Given the description of an element on the screen output the (x, y) to click on. 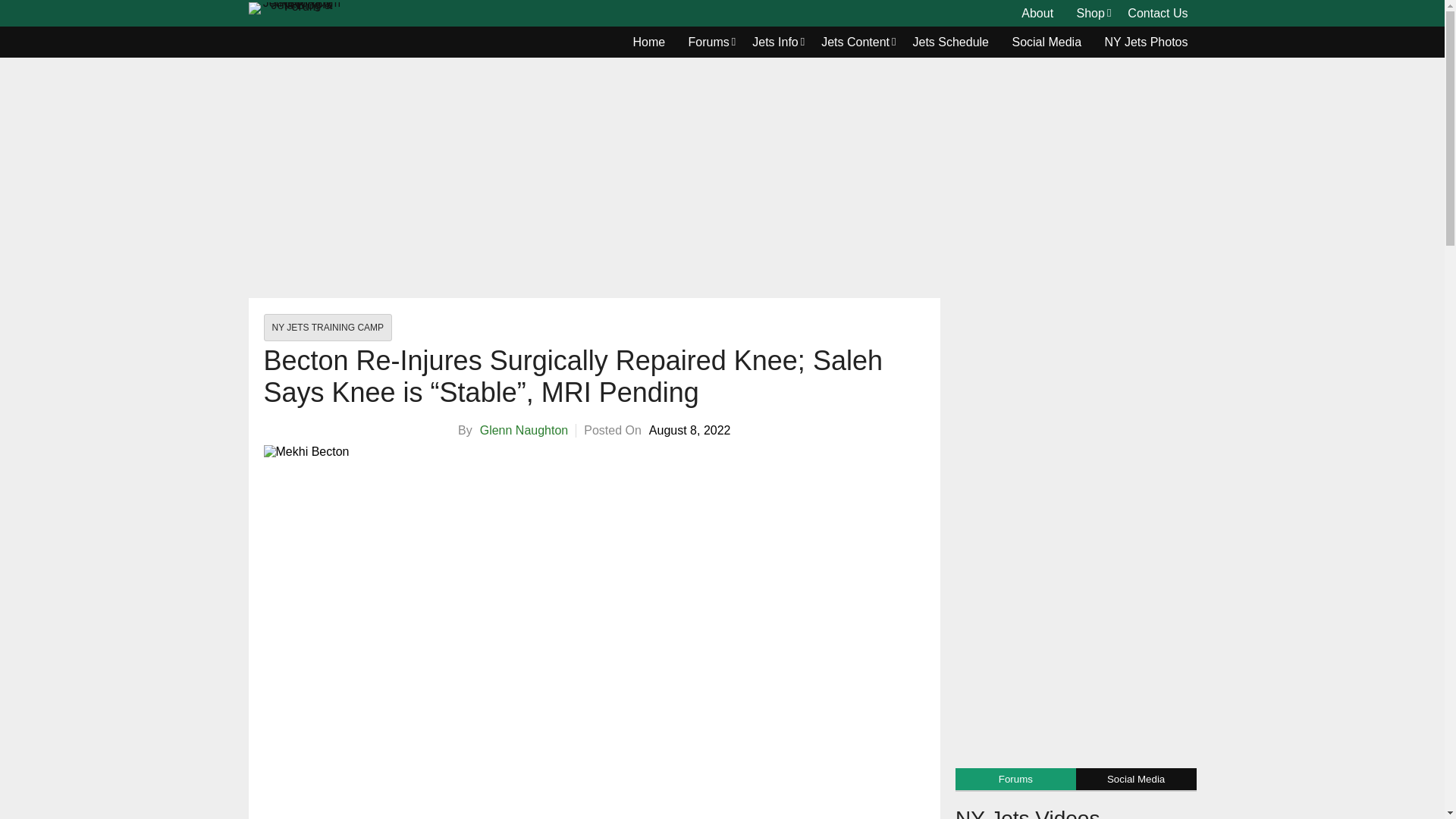
Jets Schedule (950, 41)
Contact Us (1157, 13)
NY Jets Photos (1146, 41)
Glenn Naughton (524, 430)
Forums (709, 41)
Shop (1090, 13)
Social Media (1046, 41)
Jets Content (855, 41)
Jets Info (775, 41)
Home (649, 41)
